Given the description of an element on the screen output the (x, y) to click on. 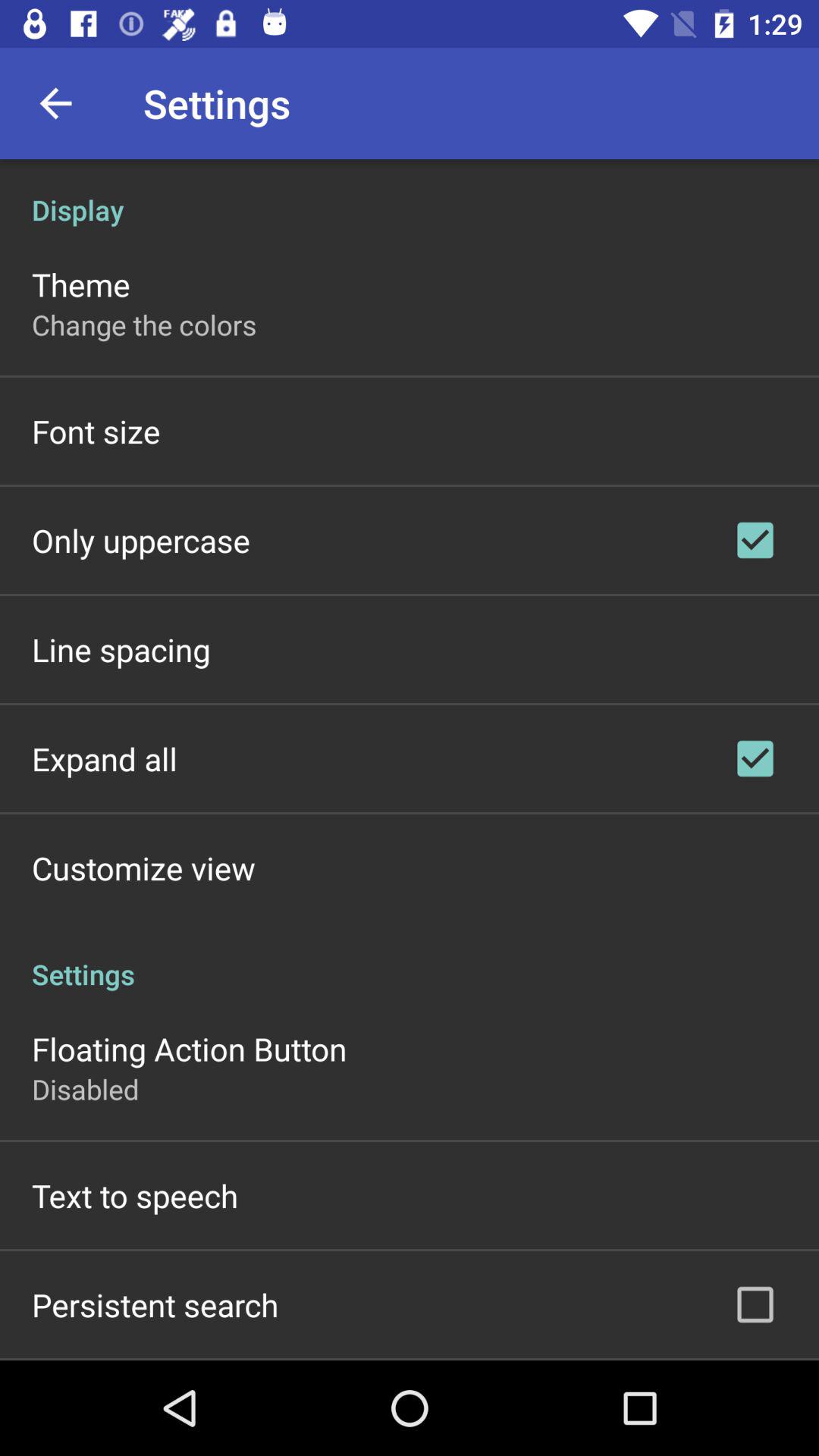
turn on the icon above theme icon (409, 193)
